Given the description of an element on the screen output the (x, y) to click on. 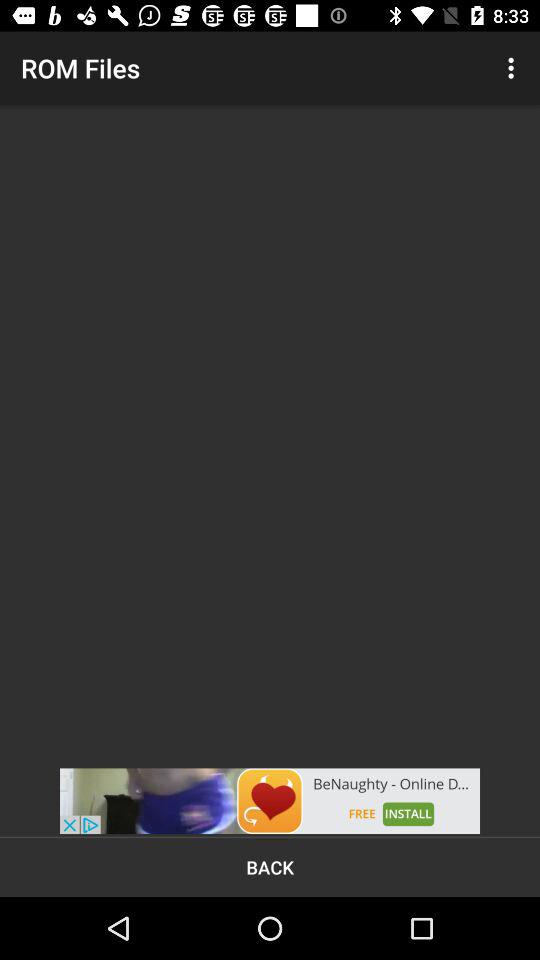
install app (270, 801)
